Given the description of an element on the screen output the (x, y) to click on. 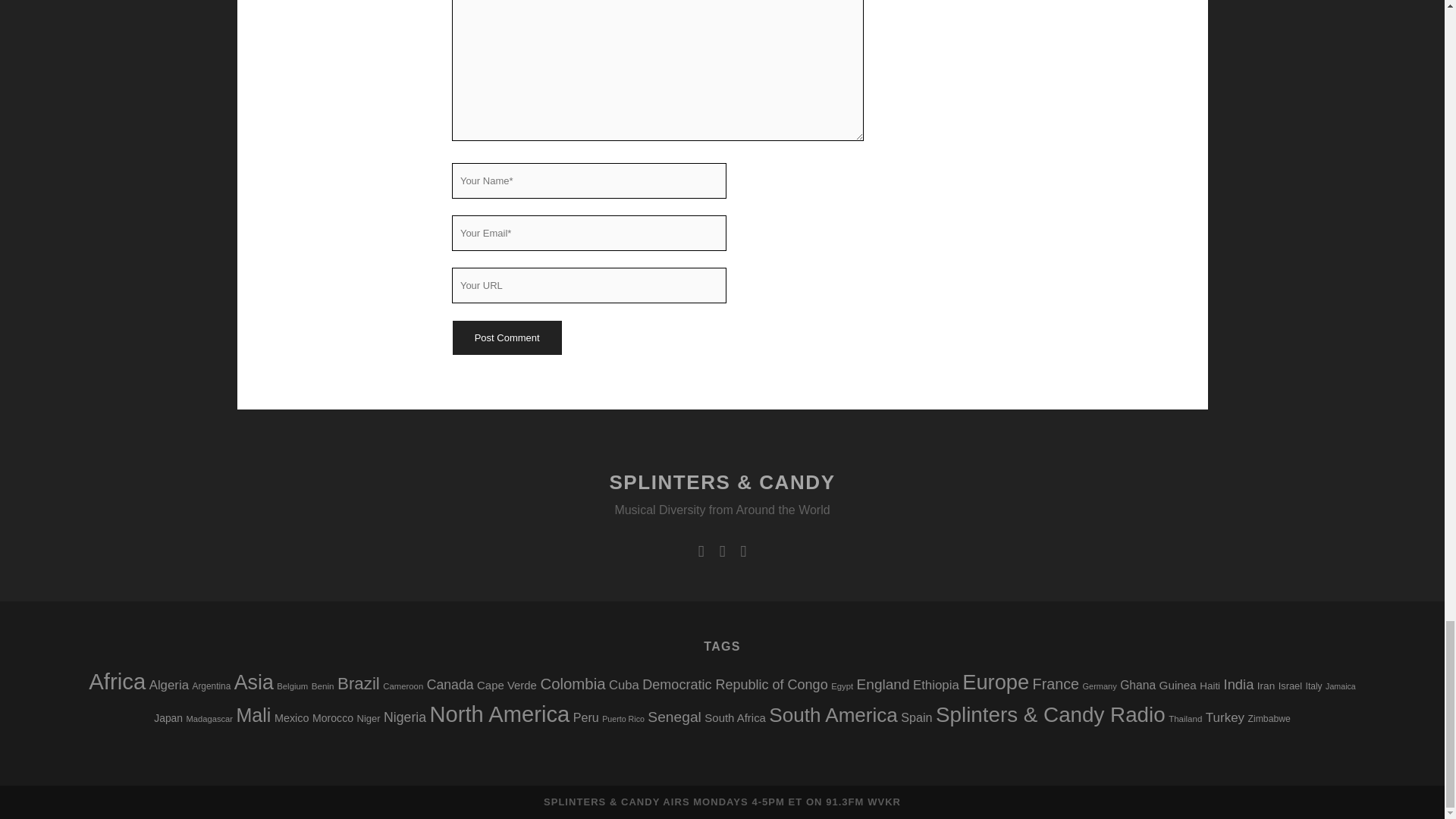
Post Comment (505, 337)
Post Comment (505, 337)
twitter (701, 551)
